Given the description of an element on the screen output the (x, y) to click on. 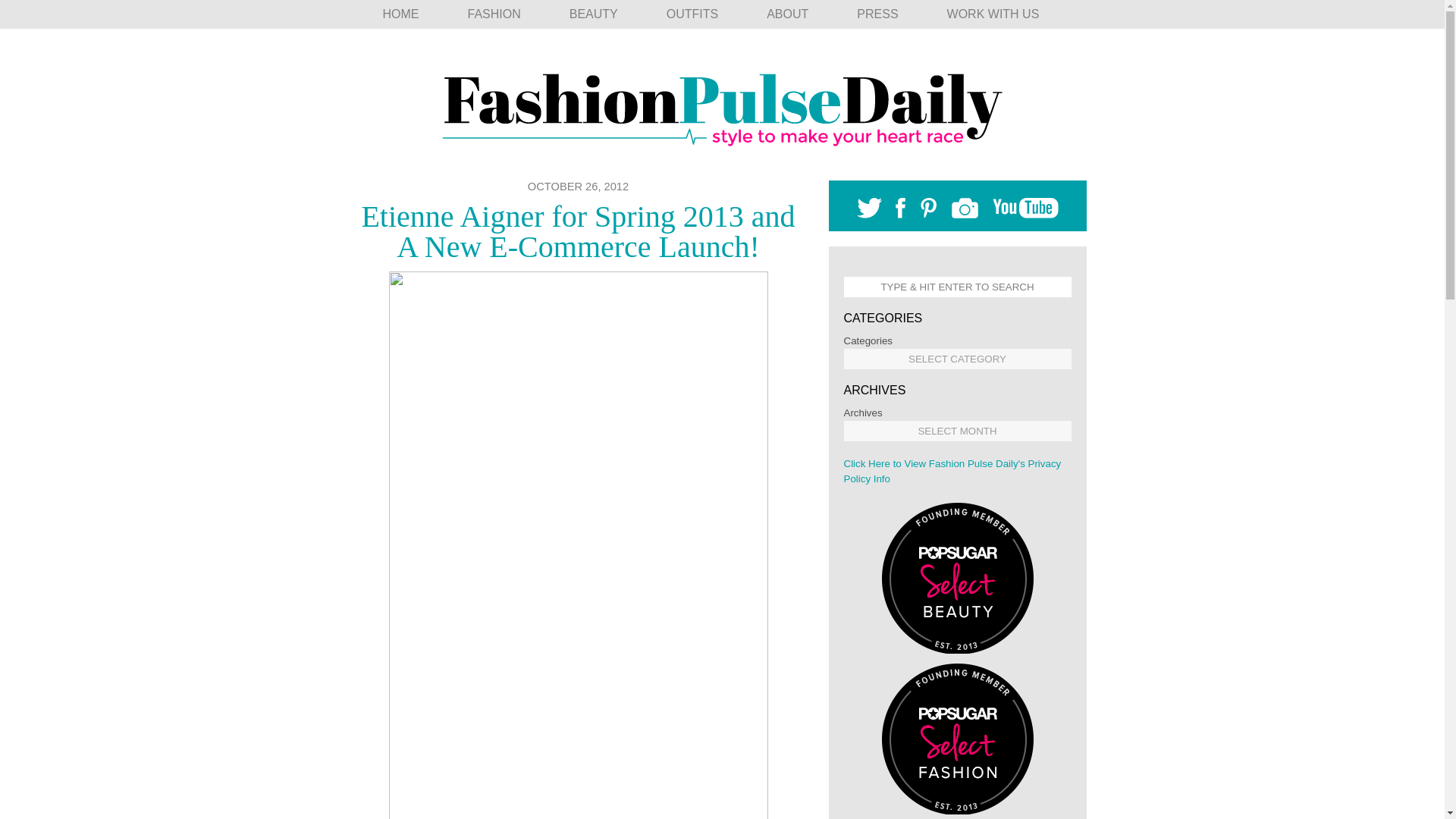
Search (109, 10)
WORK WITH US (993, 13)
OUTFITS (691, 13)
Friday, October 26th, 2012, 5:33 am (577, 186)
FASHION (493, 13)
ABOUT (787, 13)
Click Here to View Fashion Pulse Daily's Privacy Policy Info (952, 470)
Fashion Pulse Daily (722, 104)
PRESS (877, 13)
BEAUTY (593, 13)
